Given the description of an element on the screen output the (x, y) to click on. 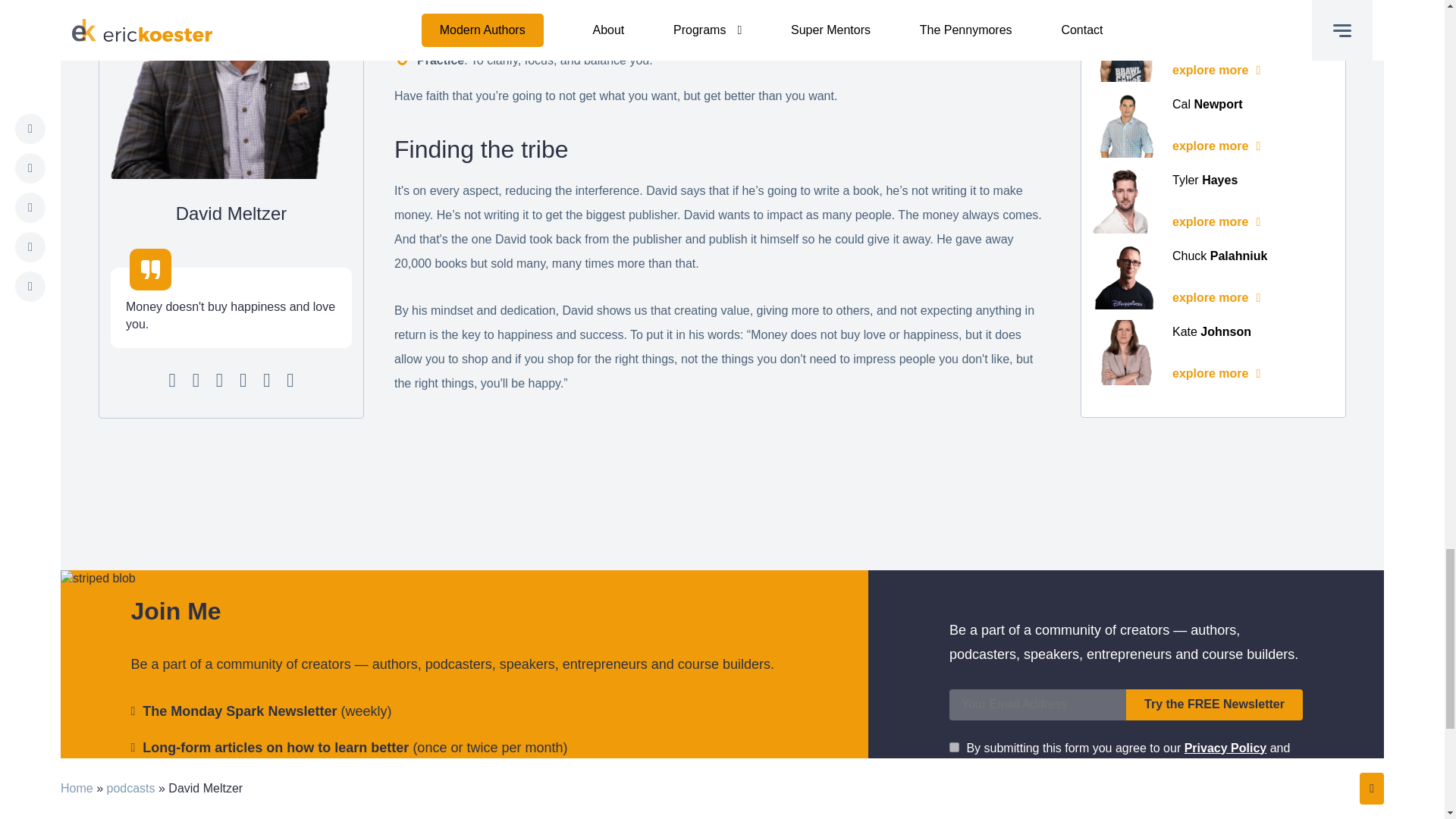
on (954, 746)
